Given the description of an element on the screen output the (x, y) to click on. 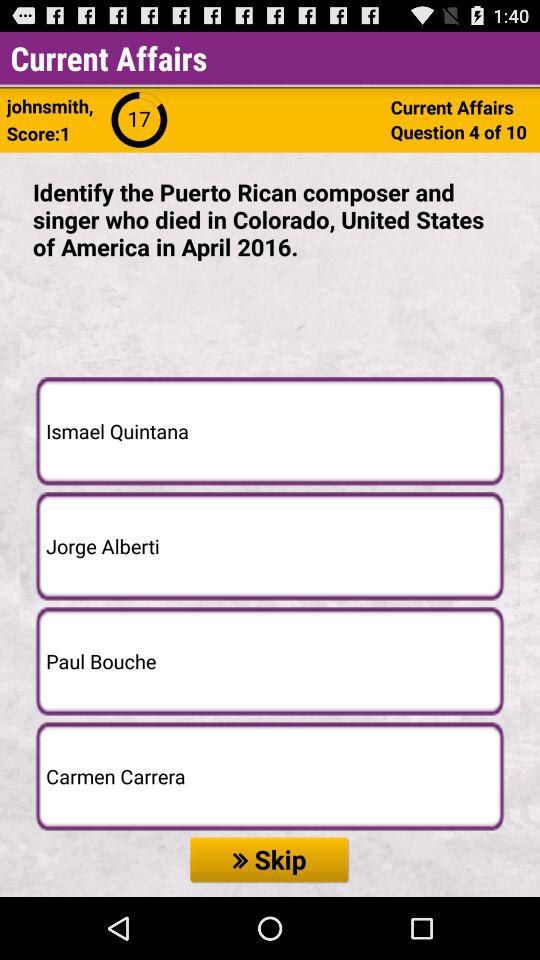
flip to jorge alberti (270, 545)
